Given the description of an element on the screen output the (x, y) to click on. 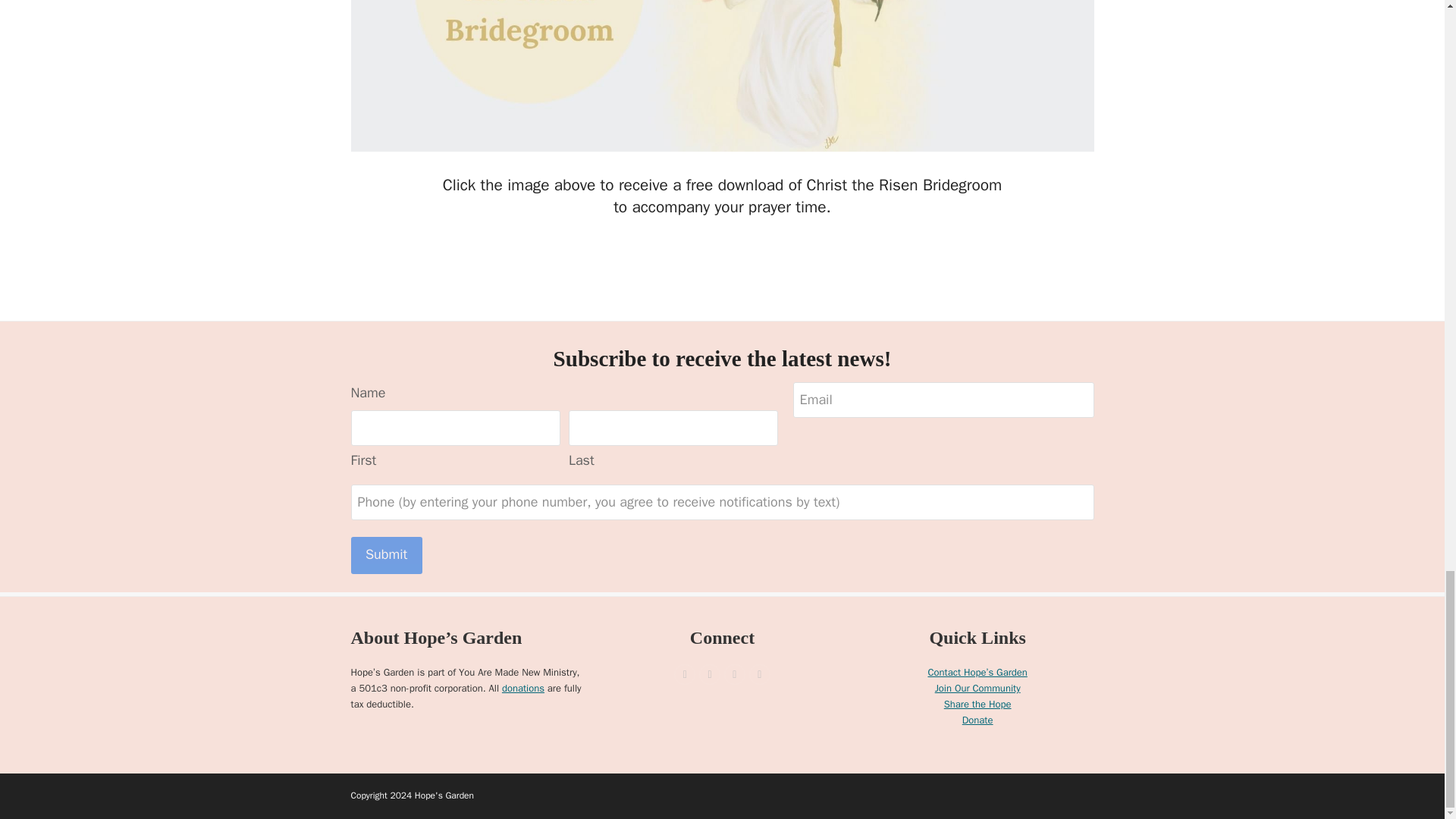
YouTube (734, 674)
Spotify (759, 674)
Facebook (684, 674)
Instagram (709, 674)
Submit (386, 555)
